Given the description of an element on the screen output the (x, y) to click on. 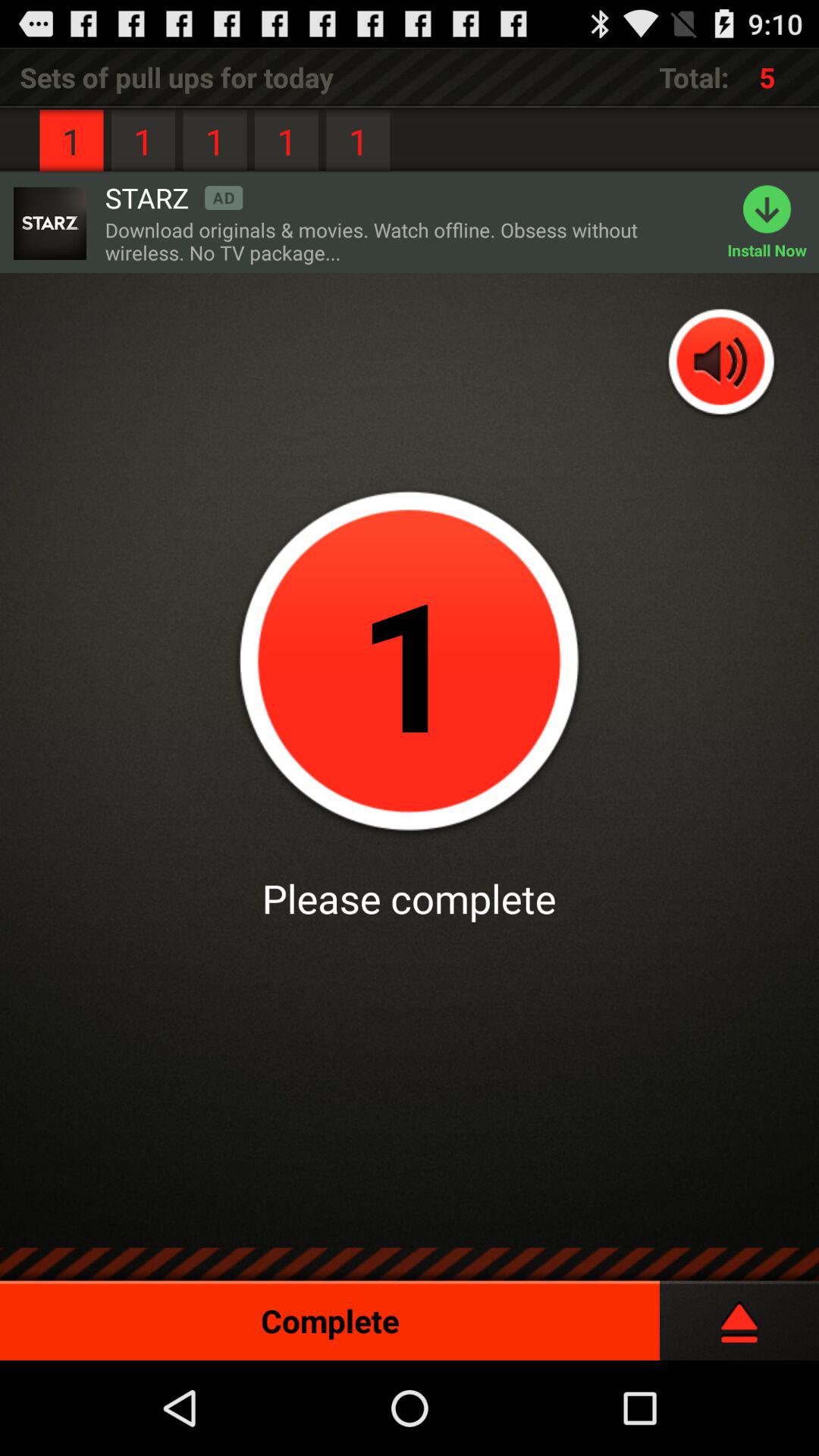
turn off the item below download originals movies item (721, 363)
